Given the description of an element on the screen output the (x, y) to click on. 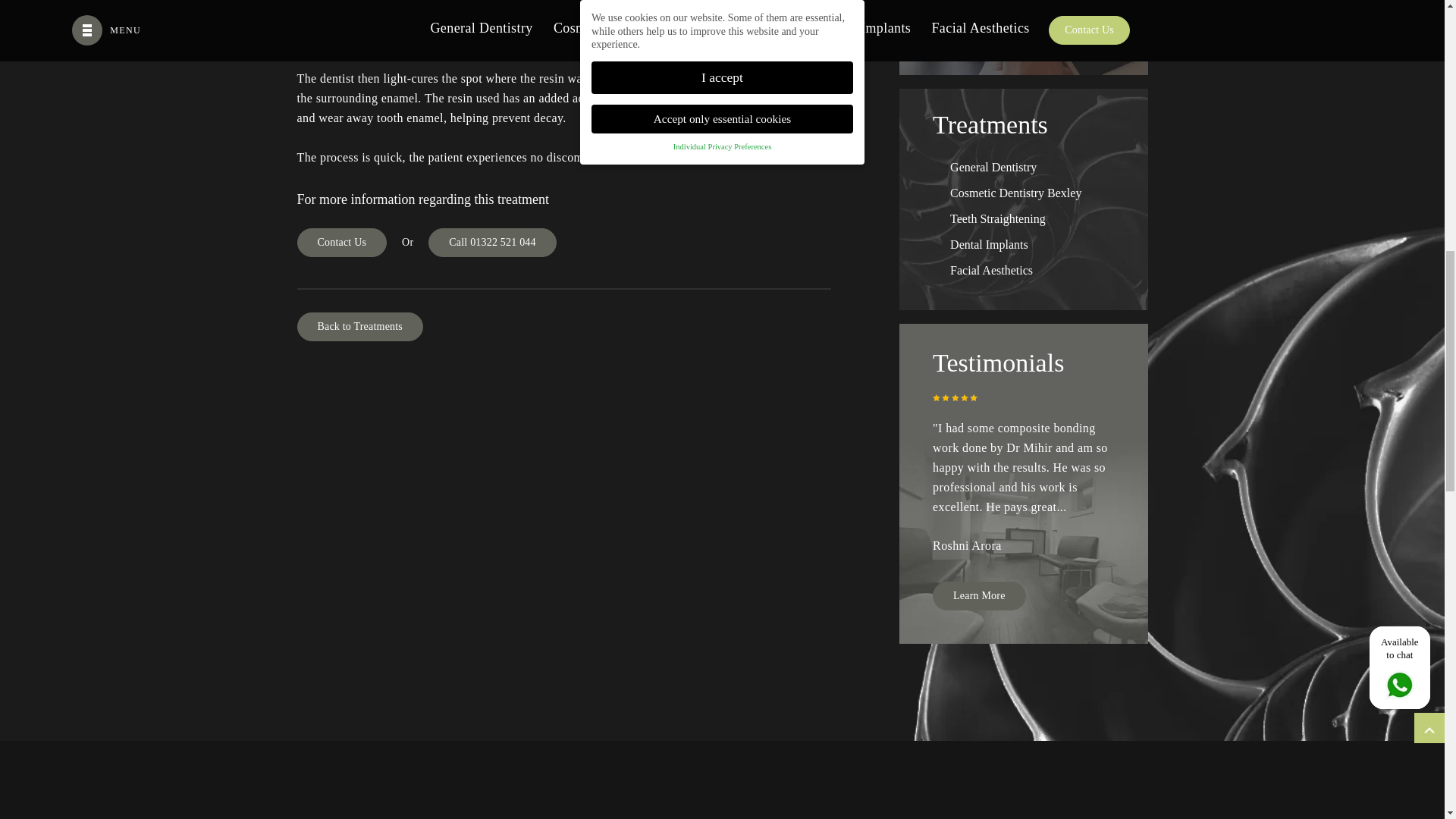
Send Enquiry (983, 25)
